Given the description of an element on the screen output the (x, y) to click on. 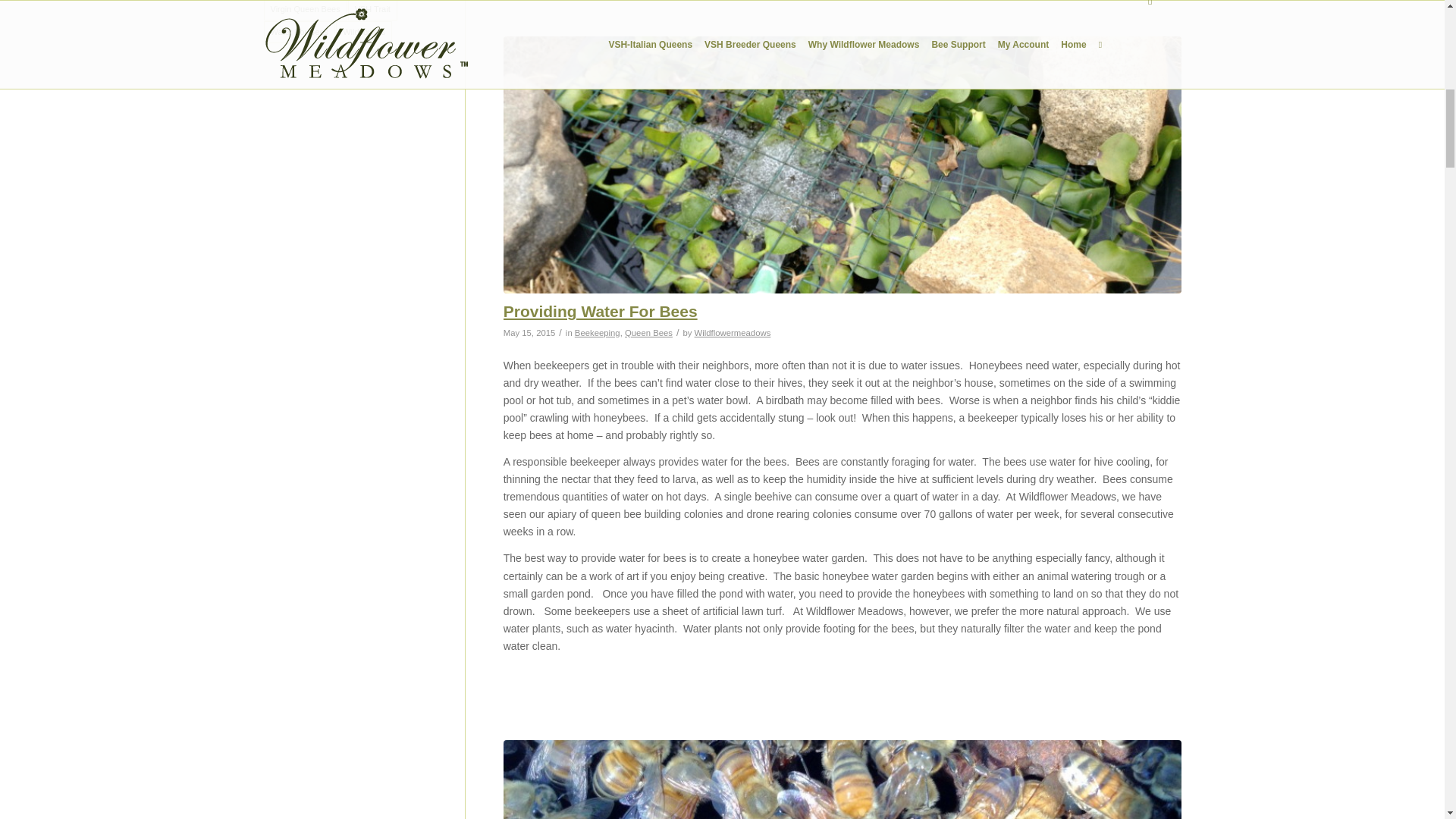
Wildflowermeadows (732, 332)
Posts by Wildflowermeadows (732, 332)
Queen Bees (648, 332)
Beekeeping (597, 332)
Permanent Link: Providing Water For Bees (600, 311)
Providing Water For Bees (600, 311)
